Given the description of an element on the screen output the (x, y) to click on. 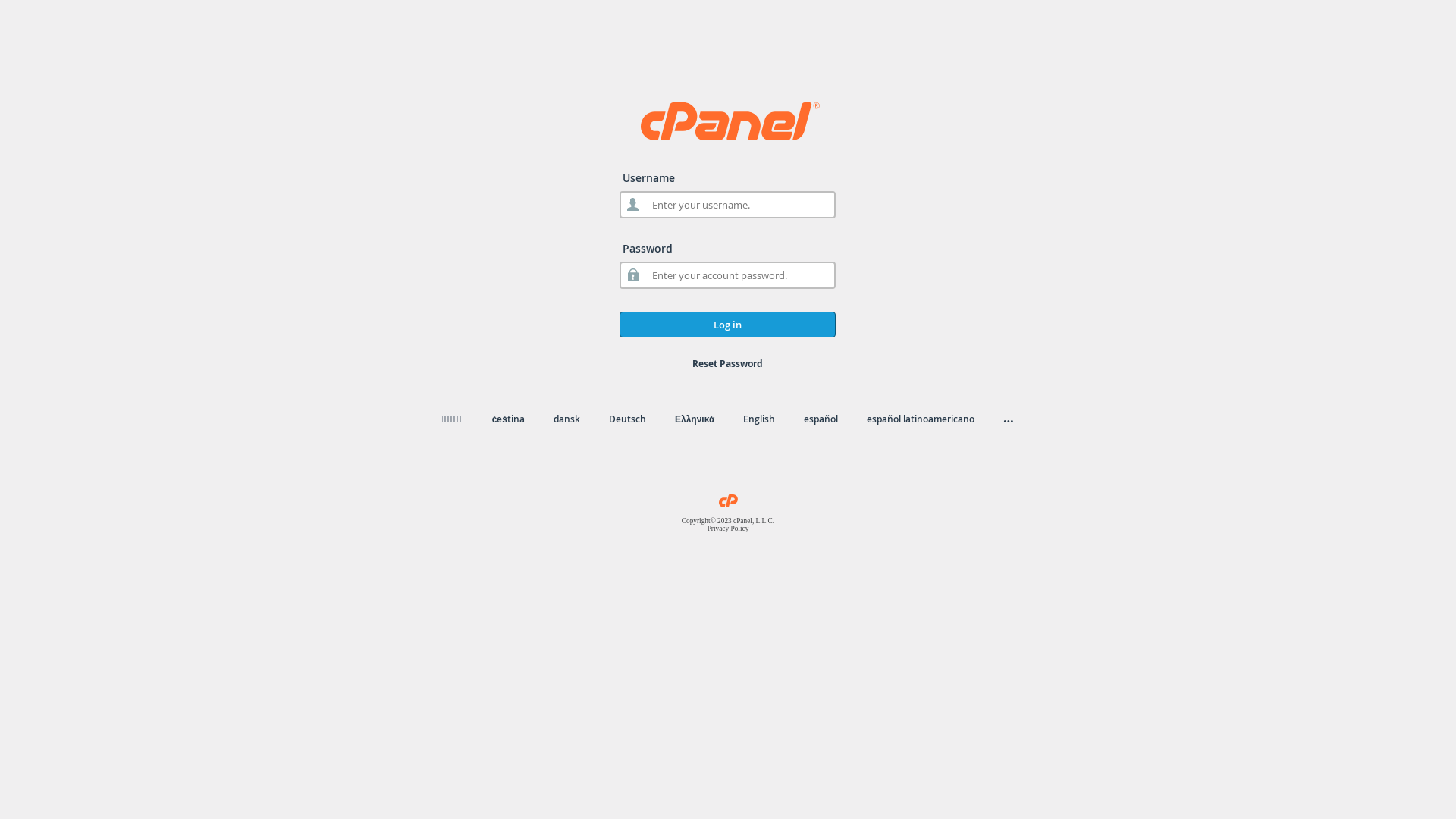
Privacy Policy Element type: text (728, 528)
dansk Element type: text (566, 418)
English Element type: text (759, 418)
Deutsch Element type: text (627, 418)
Reset Password Element type: text (727, 363)
Log in Element type: text (727, 324)
